Given the description of an element on the screen output the (x, y) to click on. 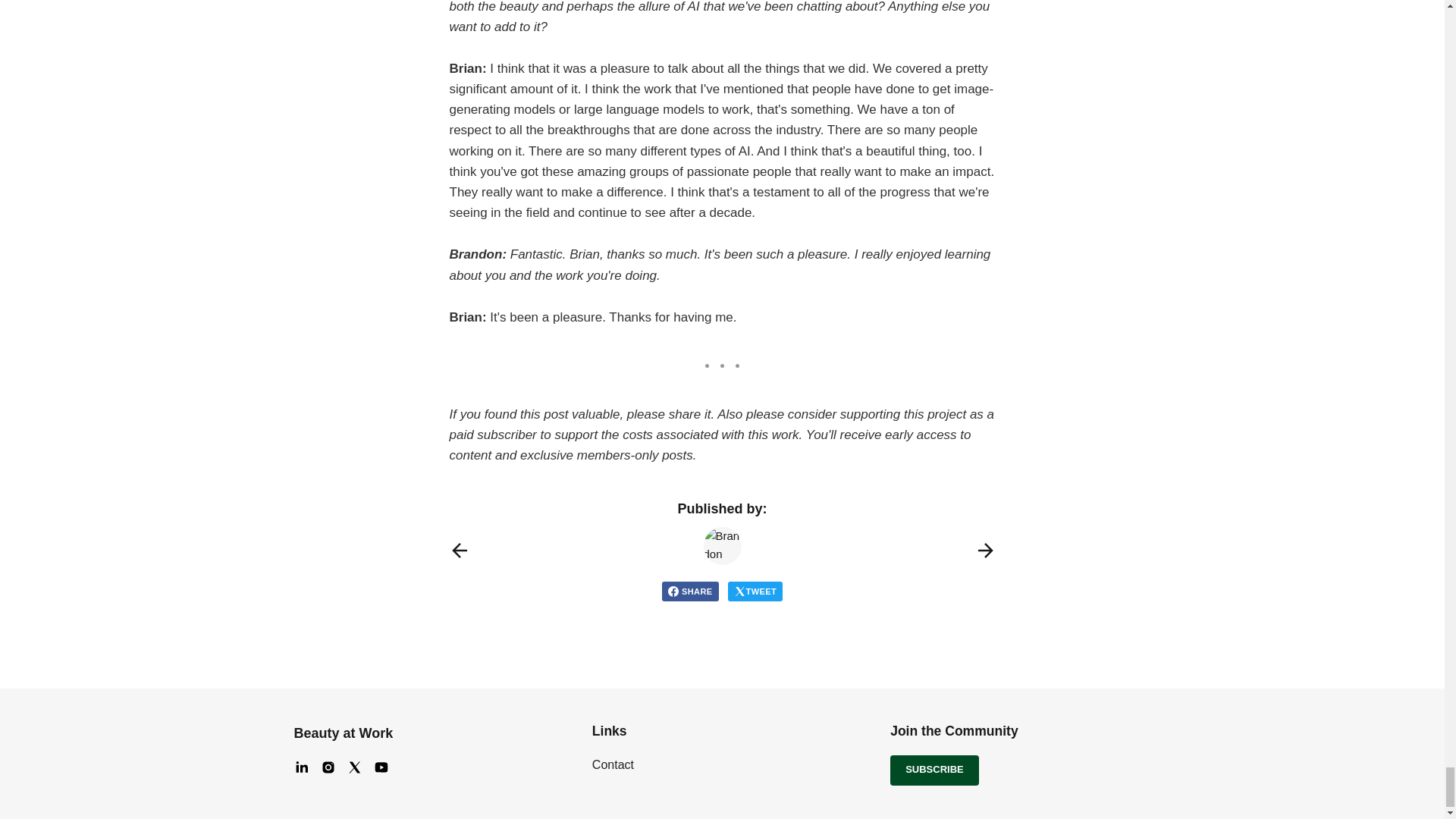
SHARE (690, 591)
TWEET (755, 591)
